Given the description of an element on the screen output the (x, y) to click on. 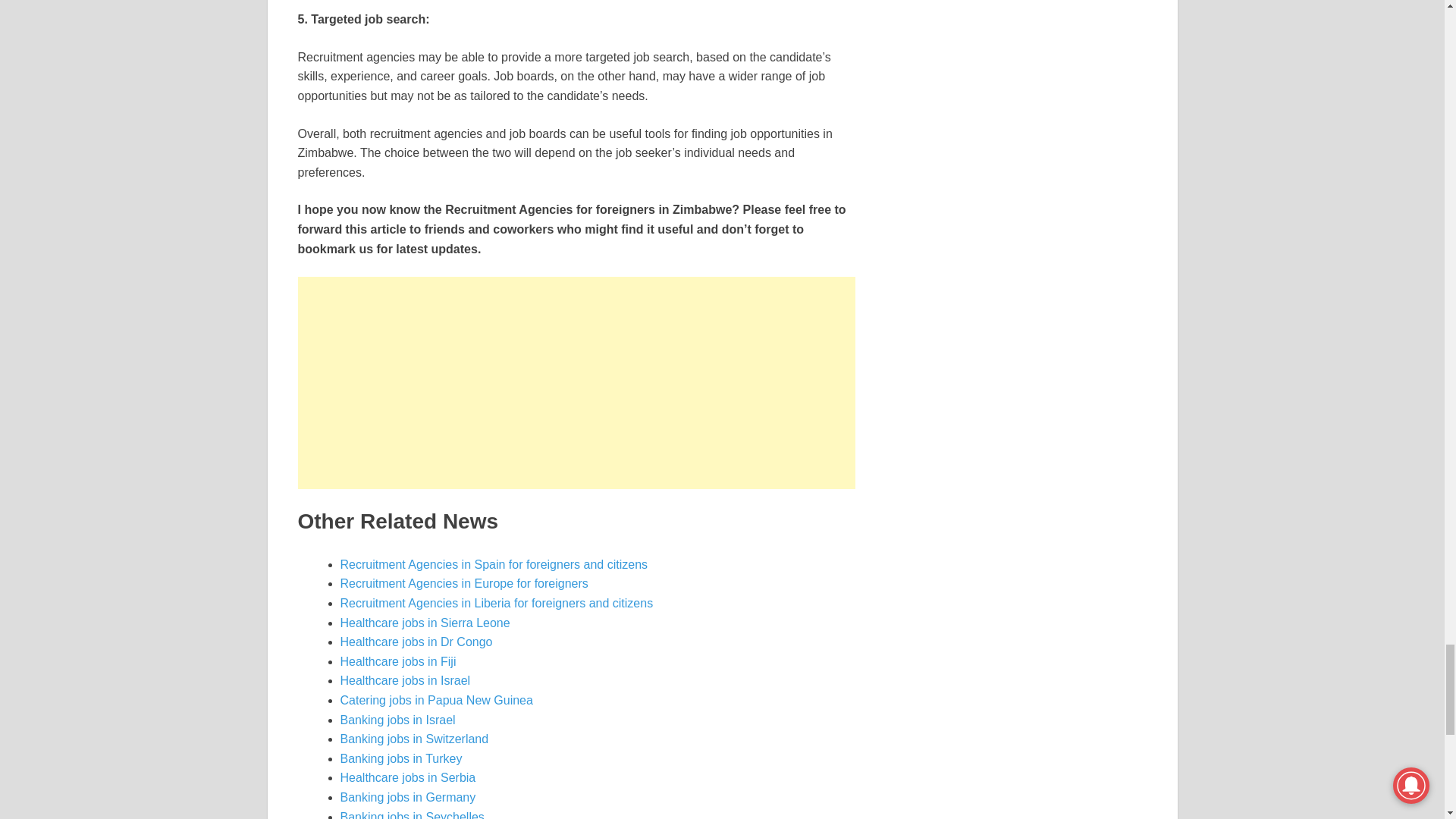
Recruitment Agencies in Spain for foreigners and citizens  (494, 563)
